Given the description of an element on the screen output the (x, y) to click on. 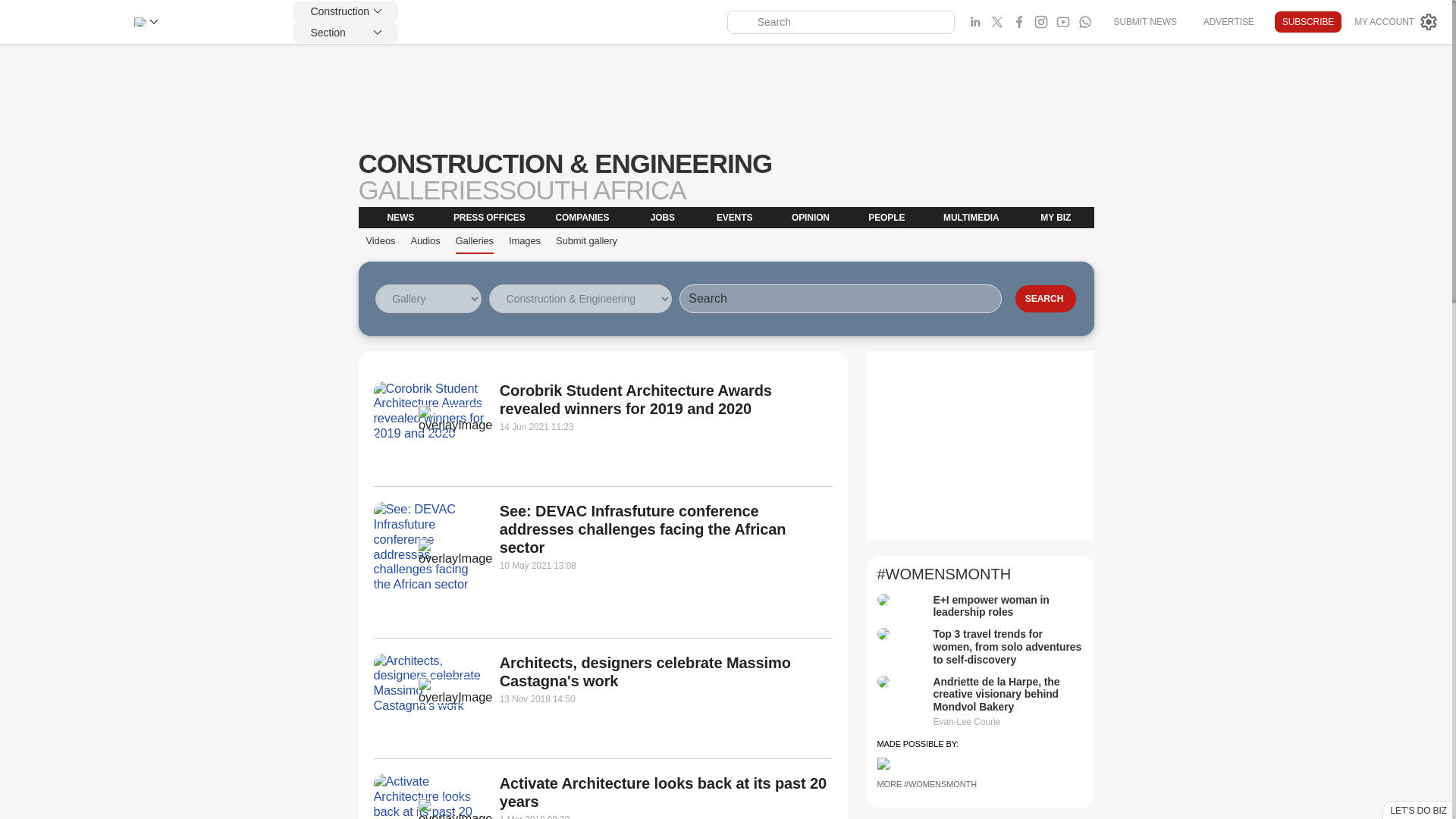
Search (1044, 298)
ADVERTISE (1228, 21)
Bizcommunity youtube (1062, 22)
MY ACCOUNT (1396, 21)
Bizcommunity facebook (1084, 22)
Bizcommunity facebook (1018, 22)
SUBMIT NEWS (1144, 21)
Bizcommunity instagram (1040, 22)
Section (344, 32)
Construction (344, 11)
